Given the description of an element on the screen output the (x, y) to click on. 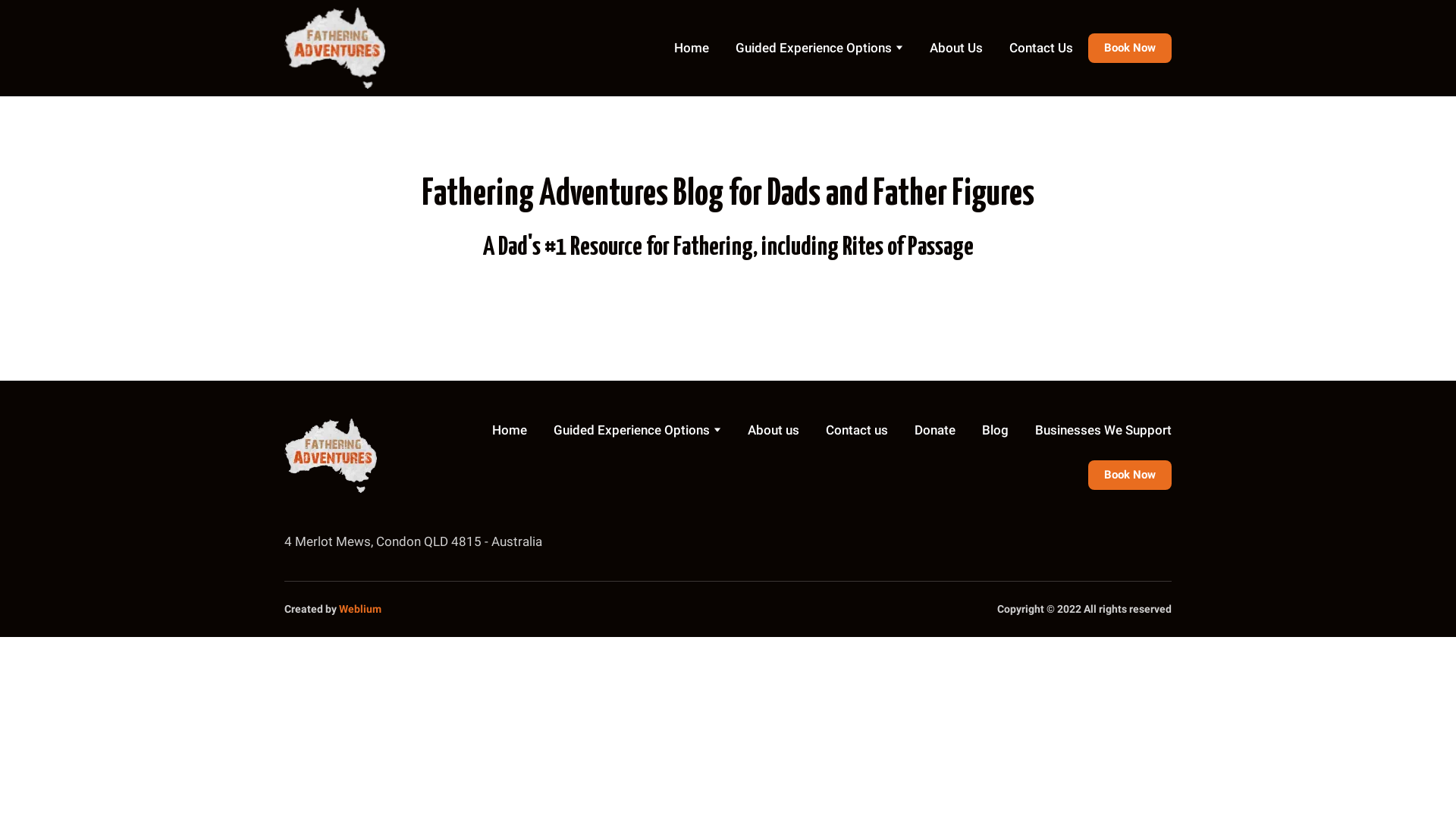
Home Element type: text (509, 429)
Blog Element type: text (995, 429)
Contact Us Element type: text (1041, 47)
Home Element type: text (691, 47)
Contact us Element type: text (856, 429)
Businesses We Support Element type: text (1103, 429)
Book Now Element type: text (1129, 474)
Book Now Element type: text (1129, 47)
Donate Element type: text (934, 429)
Weblium Element type: text (359, 608)
About Us Element type: text (955, 47)
About us Element type: text (773, 429)
